Given the description of an element on the screen output the (x, y) to click on. 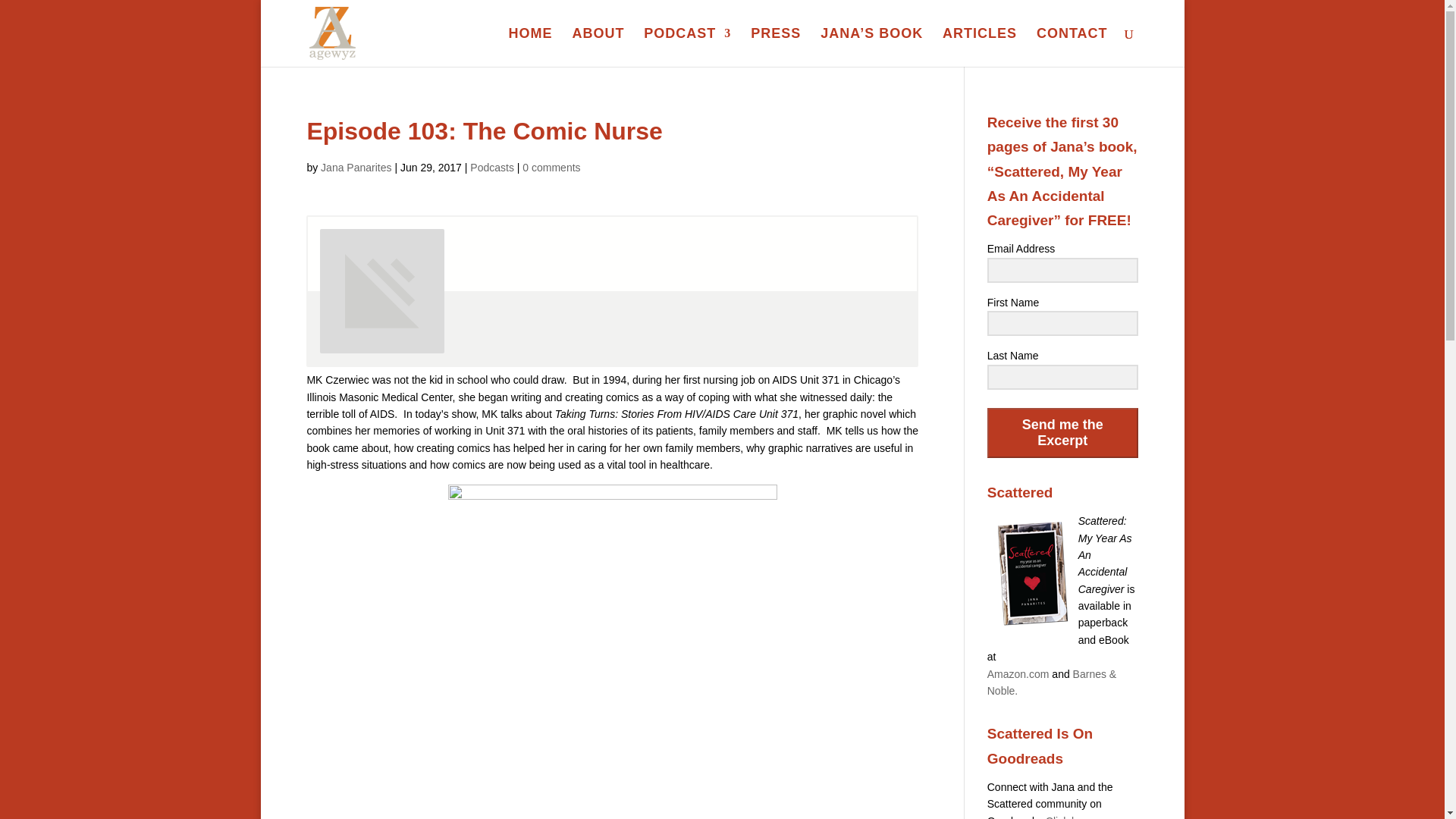
ABOUT (598, 46)
Podcasts (491, 167)
HOME (530, 46)
Click here. (1070, 816)
ARTICLES (979, 46)
0 comments (550, 167)
Amazon.com (1018, 674)
Posts by Jana Panarites (355, 167)
Jana Panarites (355, 167)
Send me the Excerpt (1062, 432)
